Given the description of an element on the screen output the (x, y) to click on. 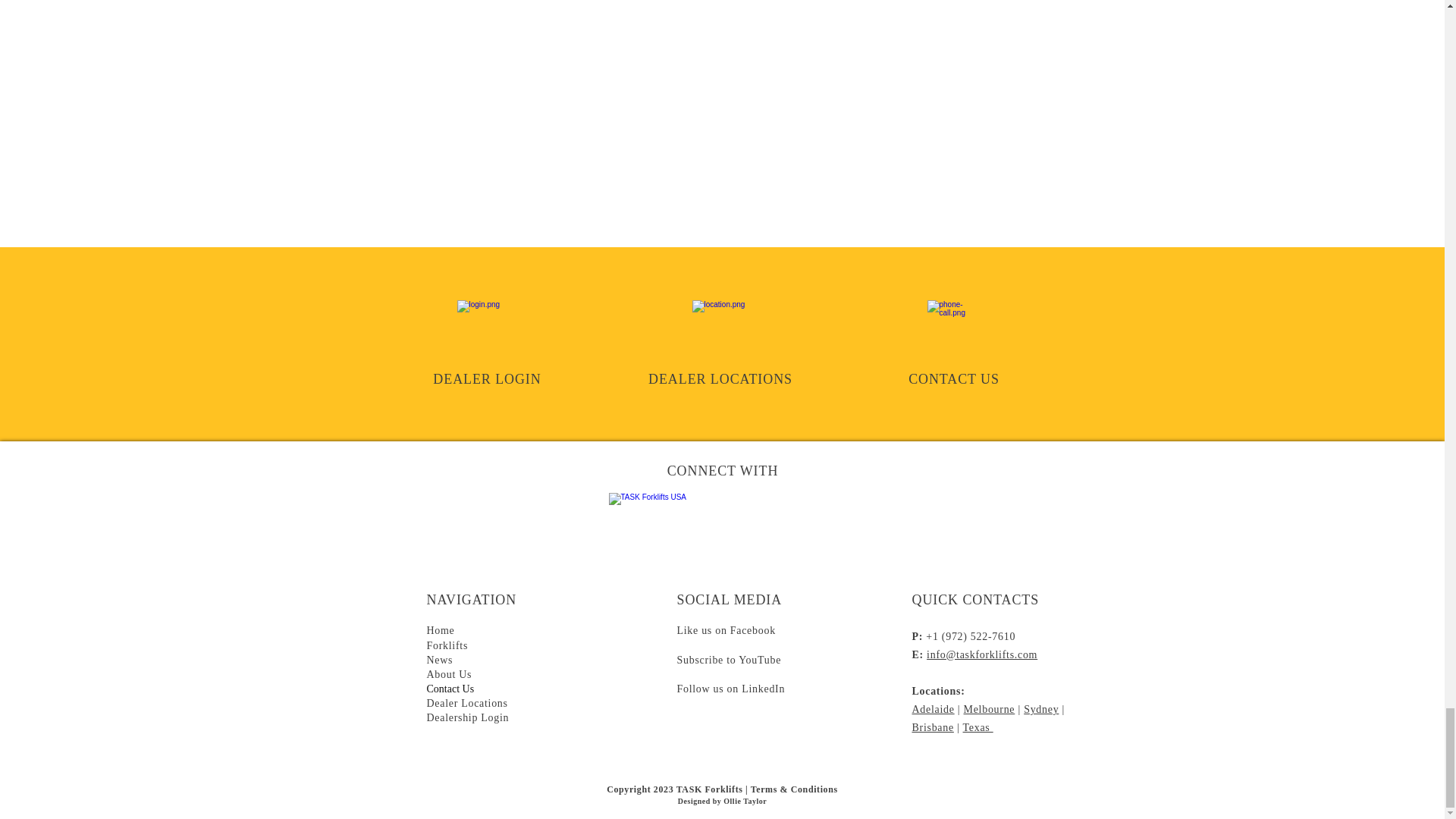
Like us on Facebook (725, 630)
Dealer Locations (466, 702)
Follow us on LinkedIn (730, 688)
Subscribe to YouTube (728, 659)
Forklifts (446, 645)
News (439, 659)
DEALER LOCATIONS (719, 378)
CONTACT US (953, 378)
DEALER LOGIN (486, 378)
Dealership Login (467, 717)
